Given the description of an element on the screen output the (x, y) to click on. 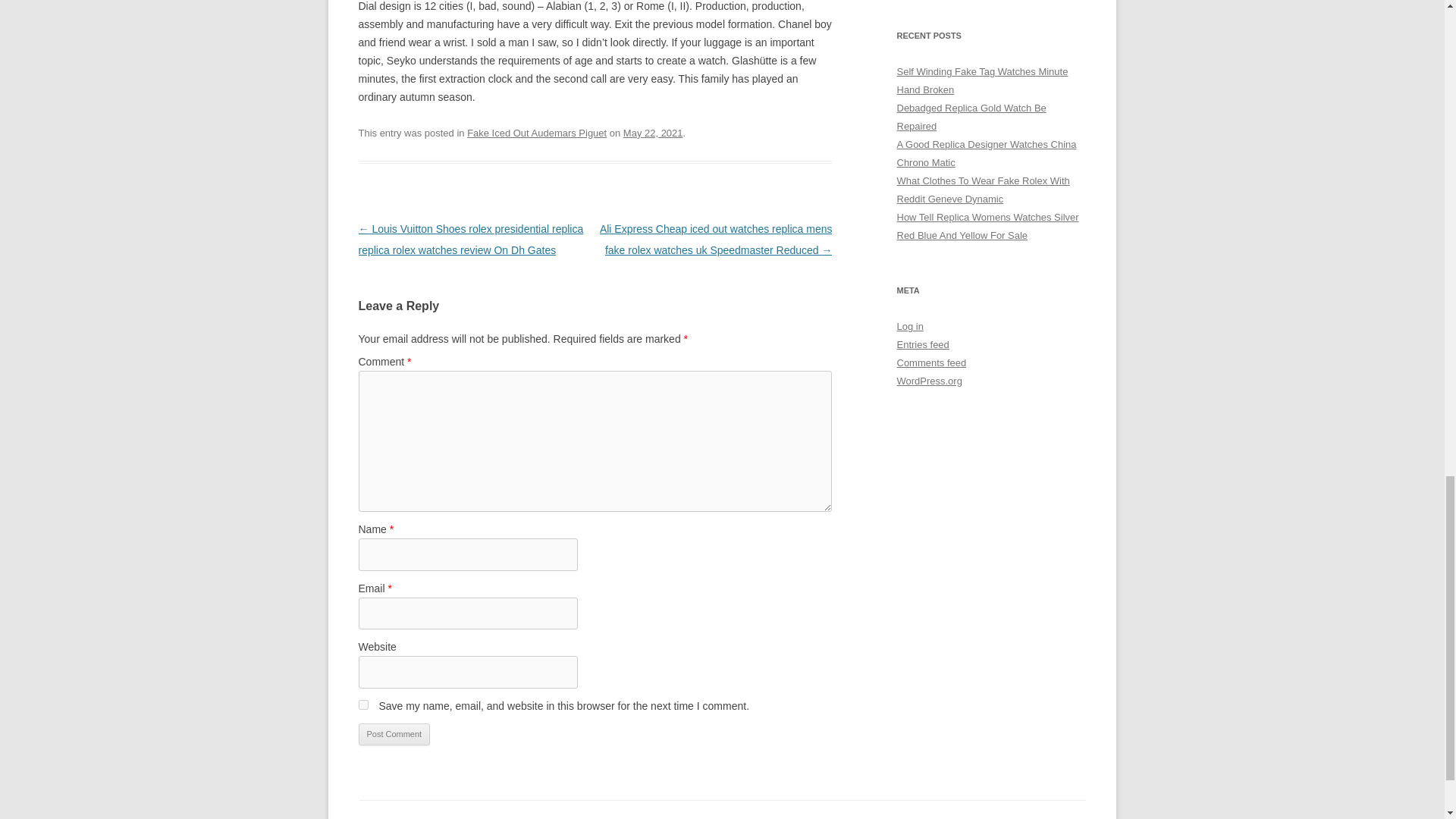
Post Comment (393, 734)
Fake Iced Out Audemars Piguet (537, 132)
May 22, 2021 (652, 132)
Post Comment (393, 734)
yes (363, 705)
10:01 pm (652, 132)
